Given the description of an element on the screen output the (x, y) to click on. 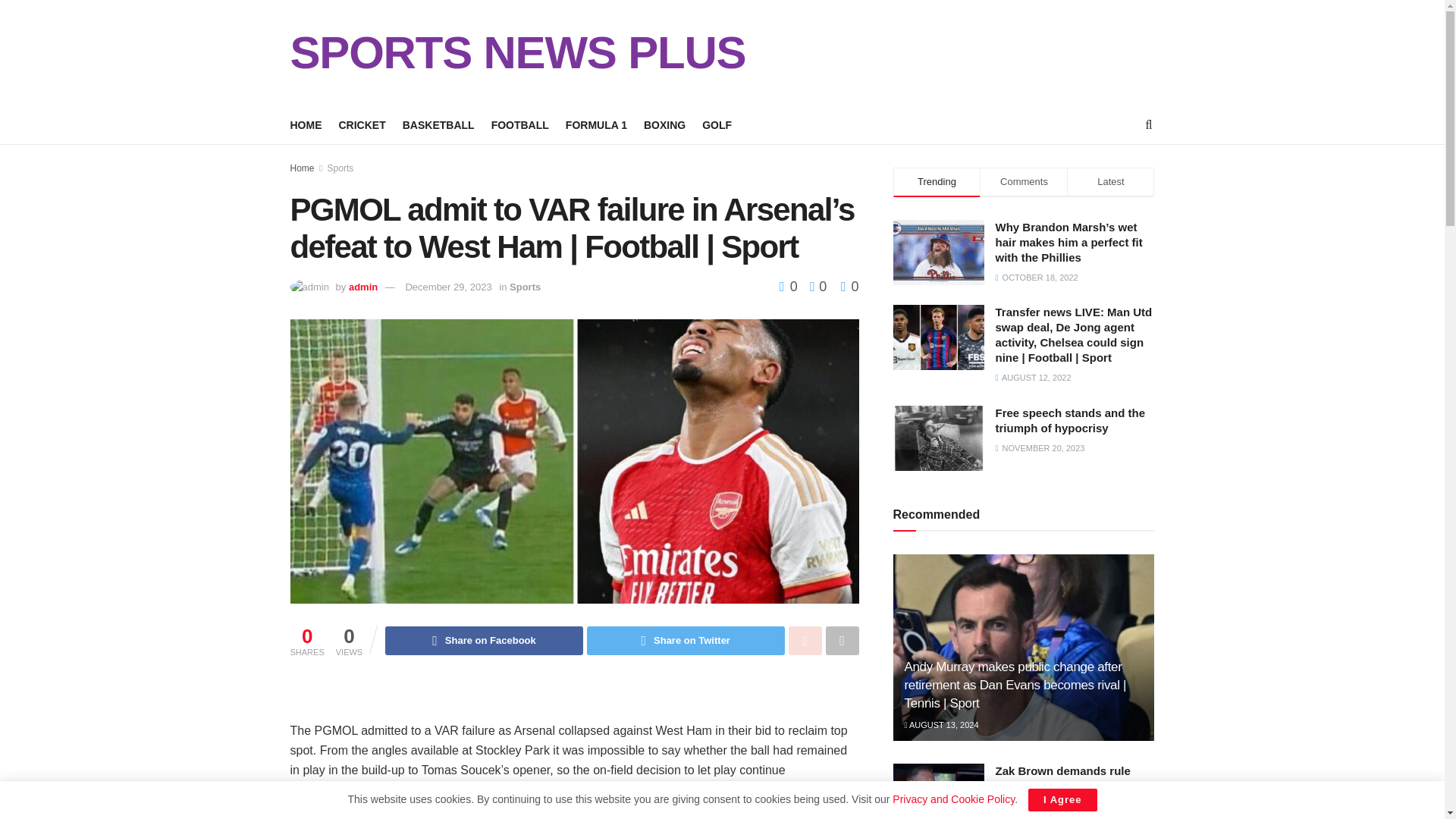
FORMULA 1 (596, 124)
HOME (305, 124)
BOXING (664, 124)
0 (814, 286)
CRICKET (361, 124)
Share on Twitter (685, 640)
December 29, 2023 (448, 286)
Sports (524, 286)
Share on Facebook (484, 640)
Sports (340, 167)
